Given the description of an element on the screen output the (x, y) to click on. 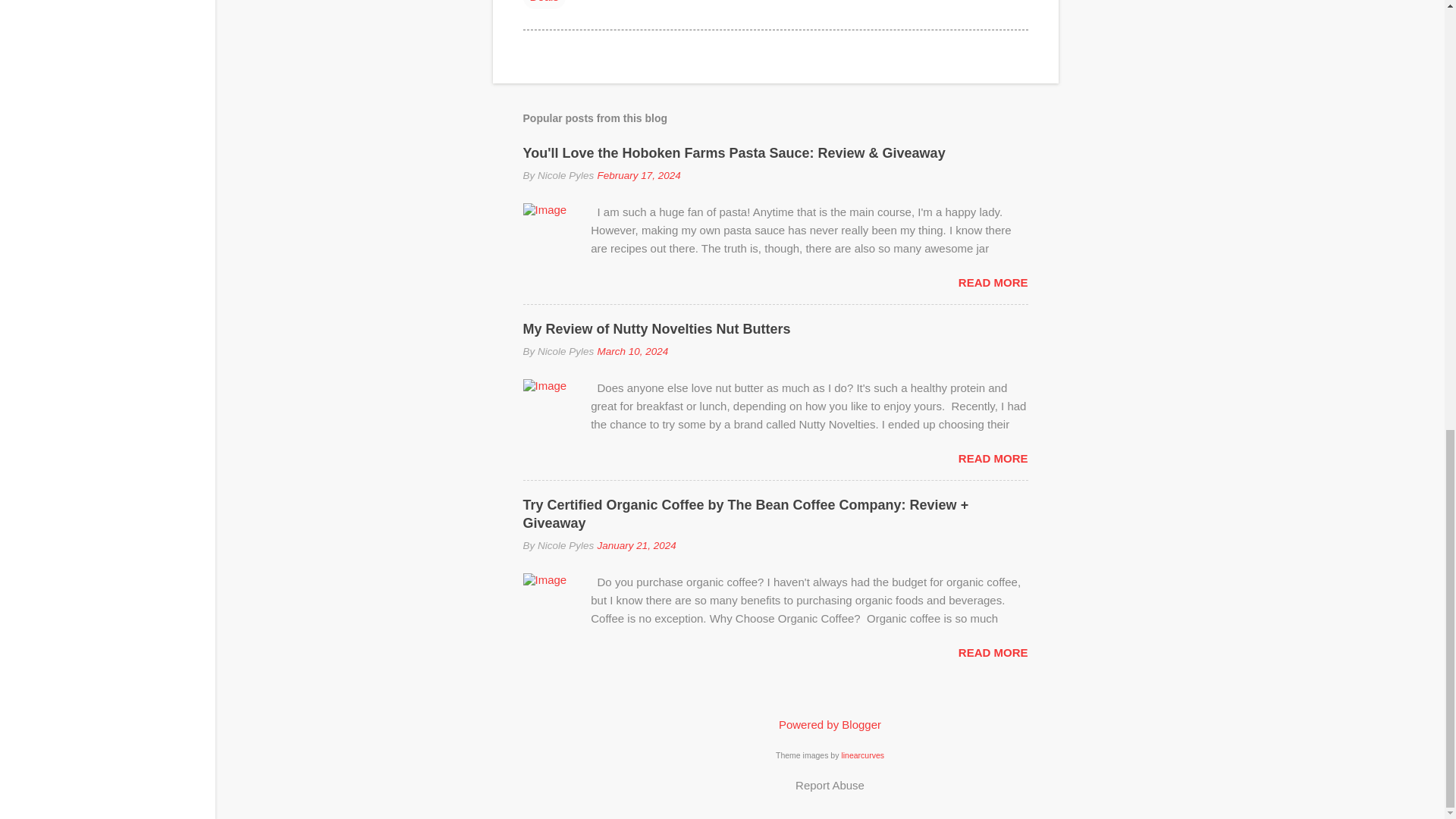
READ MORE (992, 652)
January 21, 2024 (635, 545)
Deals (544, 4)
Report Abuse (829, 784)
February 17, 2024 (637, 174)
READ MORE (992, 282)
permanent link (637, 174)
READ MORE (992, 458)
March 10, 2024 (632, 351)
My Review of Nutty Novelties Nut Butters (656, 328)
linearcurves (862, 754)
Powered by Blogger (829, 724)
